Given the description of an element on the screen output the (x, y) to click on. 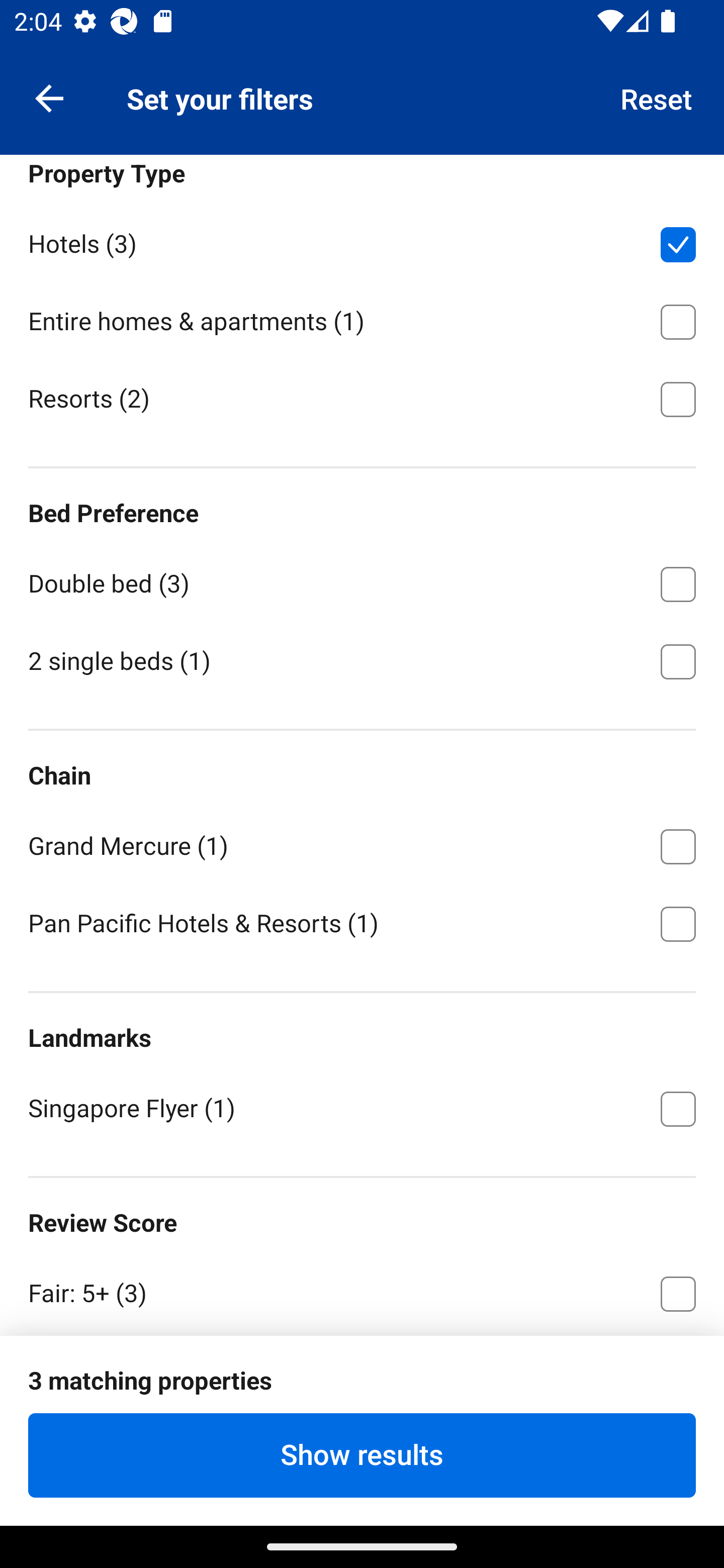
Navigate up (49, 97)
Reset (656, 97)
Hotels ⁦(3) (361, 241)
Entire homes & apartments ⁦(1) (361, 318)
Resorts ⁦(2) (361, 397)
Double bed ⁦(3) (361, 580)
2 single beds ⁦(1) (361, 659)
Grand Mercure ⁦(1) (361, 842)
Pan Pacific Hotels & Resorts ⁦(1) (361, 921)
Singapore Flyer ⁦(1) (361, 1106)
Fair: 5+ ⁦(3) (361, 1290)
Show results (361, 1454)
